Given the description of an element on the screen output the (x, y) to click on. 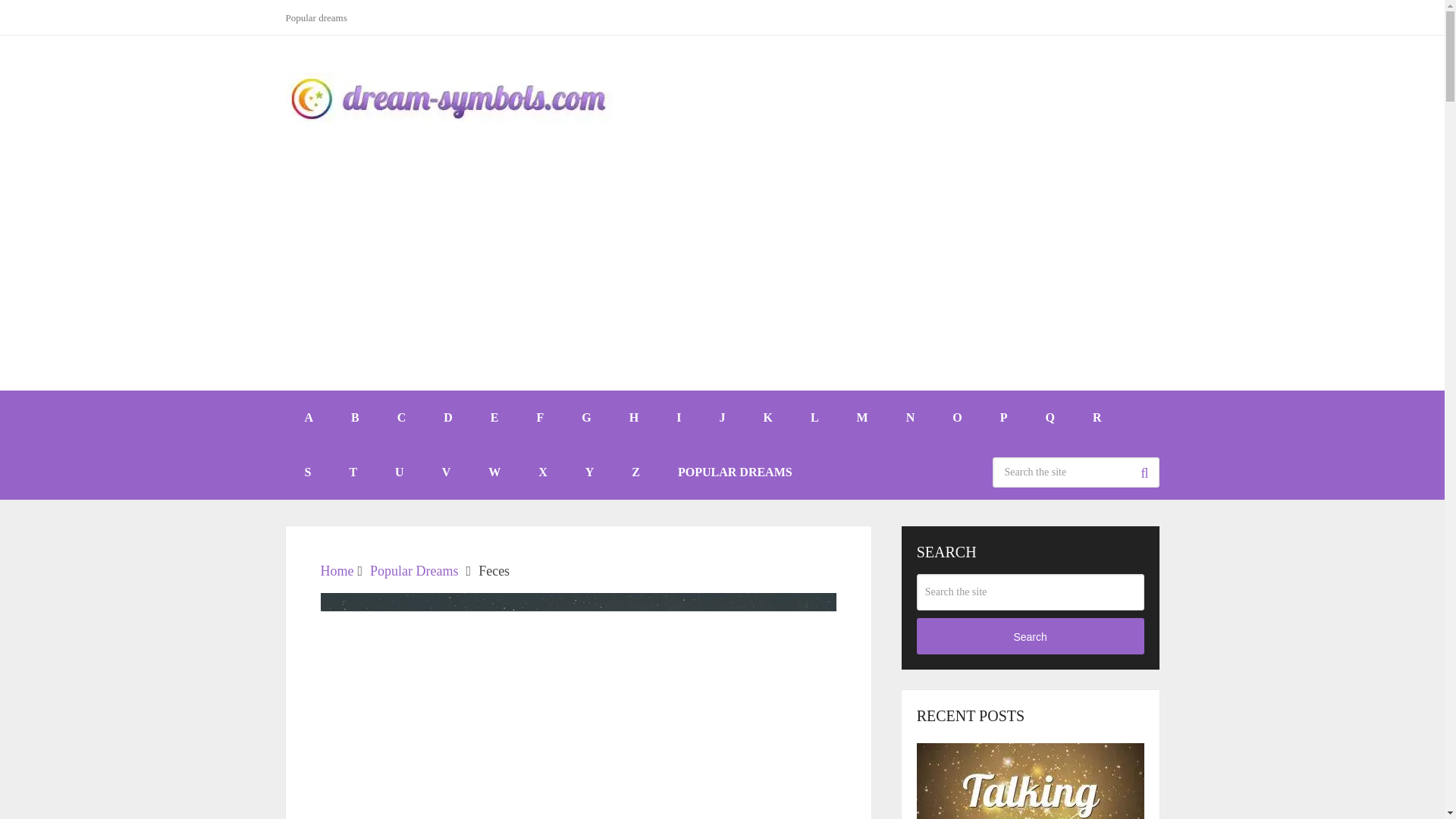
Home (336, 570)
Search (1143, 472)
Popular dreams (321, 17)
M (862, 417)
Talking Animals (1030, 779)
POPULAR DREAMS (734, 472)
Talking Animals (1030, 780)
Popular Dreams (413, 570)
W (493, 472)
